Given the description of an element on the screen output the (x, y) to click on. 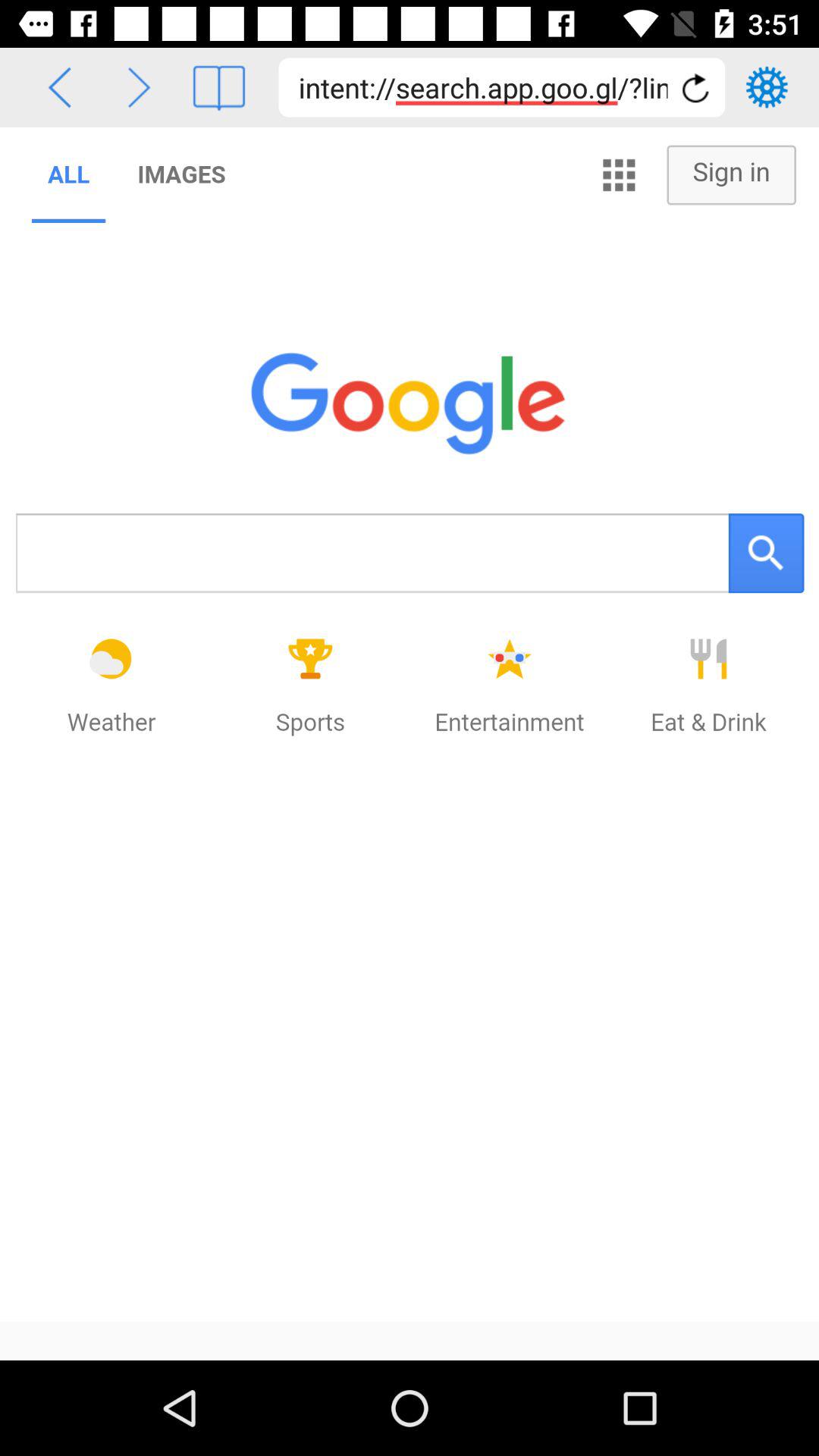
previous (139, 87)
